Given the description of an element on the screen output the (x, y) to click on. 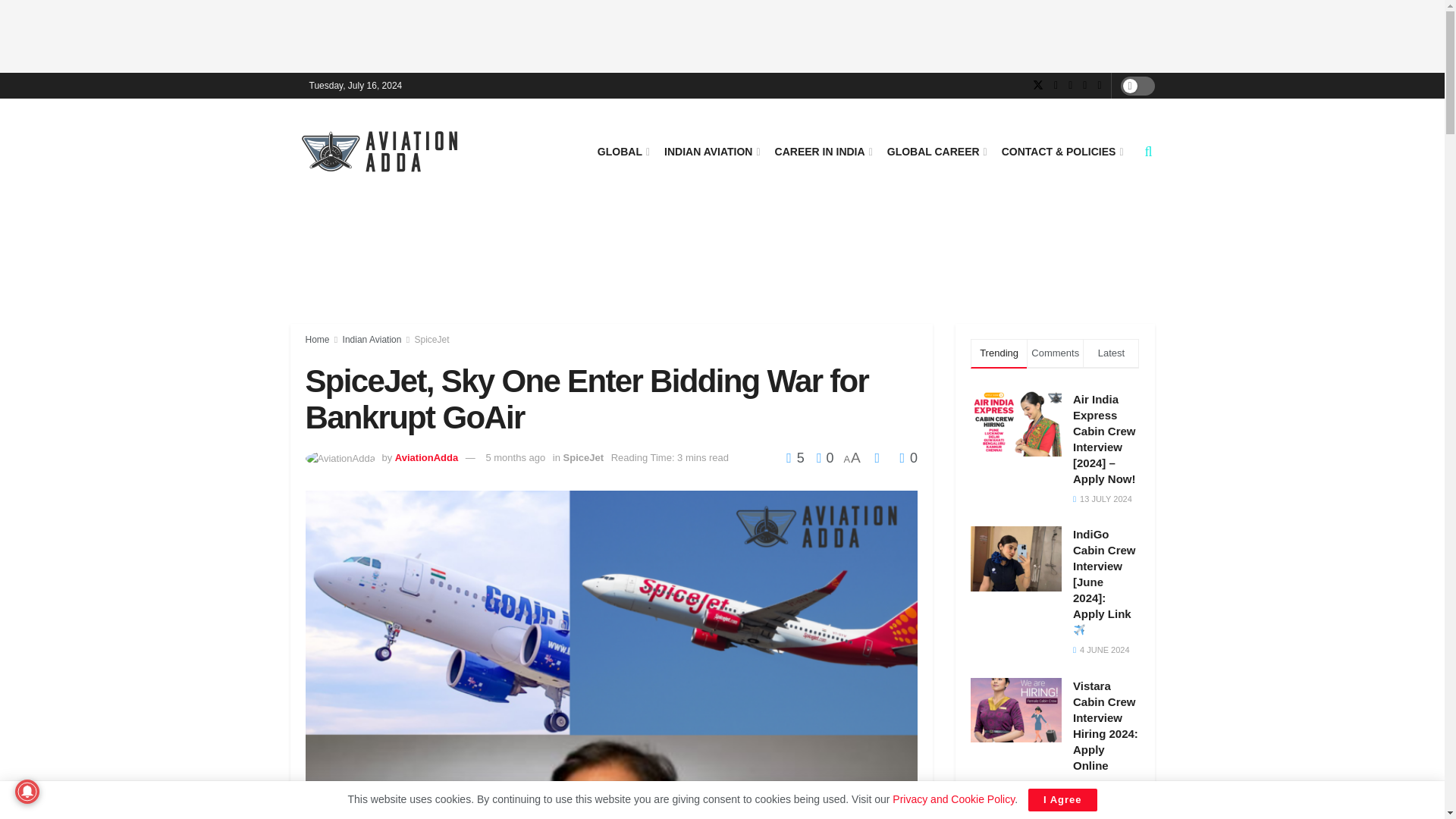
Advertisement (722, 33)
CAREER IN INDIA (822, 151)
SpiceJet (431, 339)
GLOBAL (621, 151)
Advertisement (722, 261)
INDIAN AVIATION (710, 151)
5 (797, 458)
Indian Aviation (371, 339)
5 months ago (514, 457)
SpiceJet (583, 457)
GLOBAL CAREER (935, 151)
Home (316, 339)
AviationAdda (426, 457)
